Given the description of an element on the screen output the (x, y) to click on. 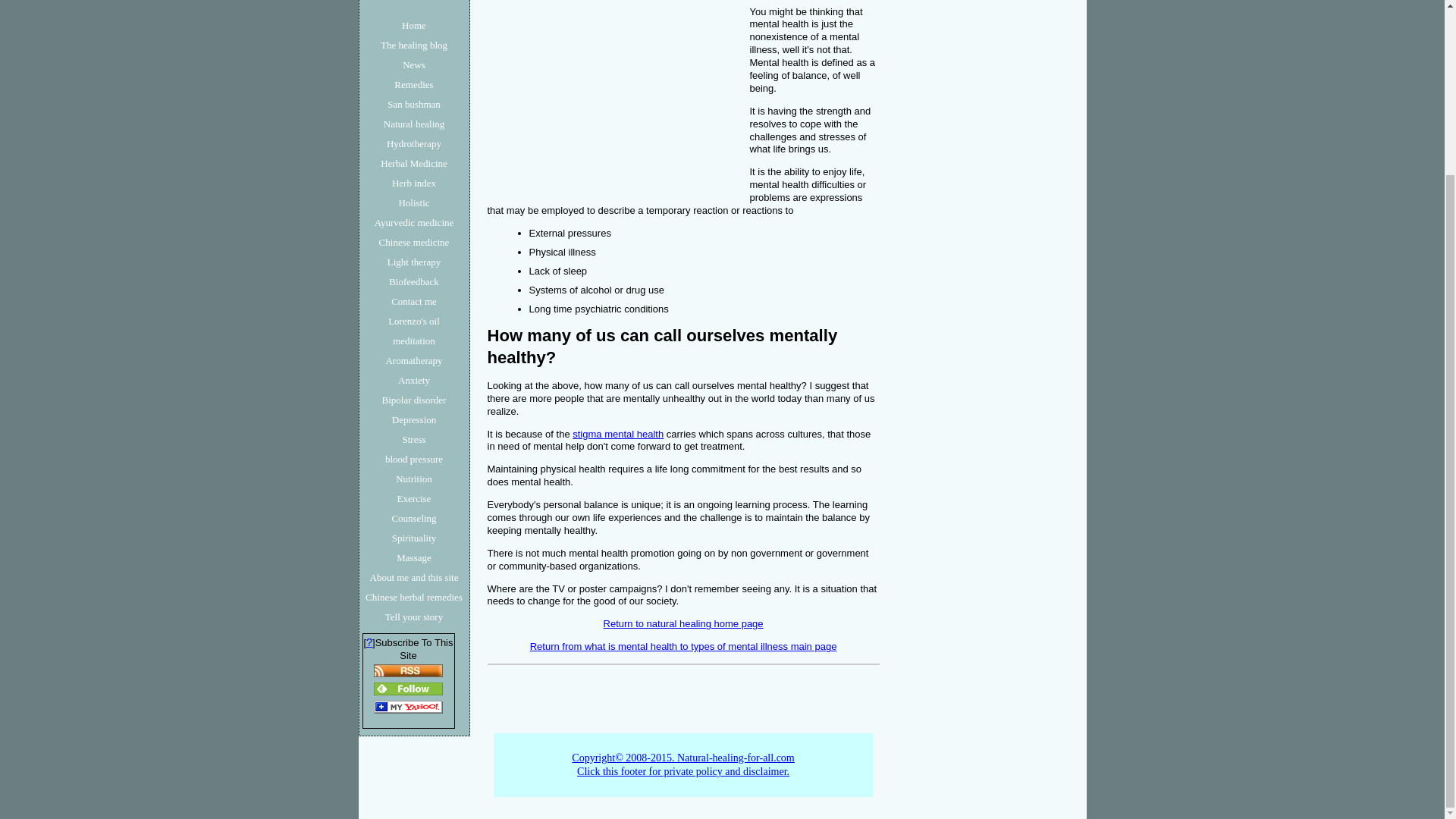
Advertisement (407, 2)
Massage (413, 557)
Depression (413, 419)
Chinese herbal remedies (413, 597)
Anxiety (413, 380)
Aromatherapy (413, 361)
Natural healing (413, 124)
Biofeedback (413, 281)
meditation (413, 341)
